Given the description of an element on the screen output the (x, y) to click on. 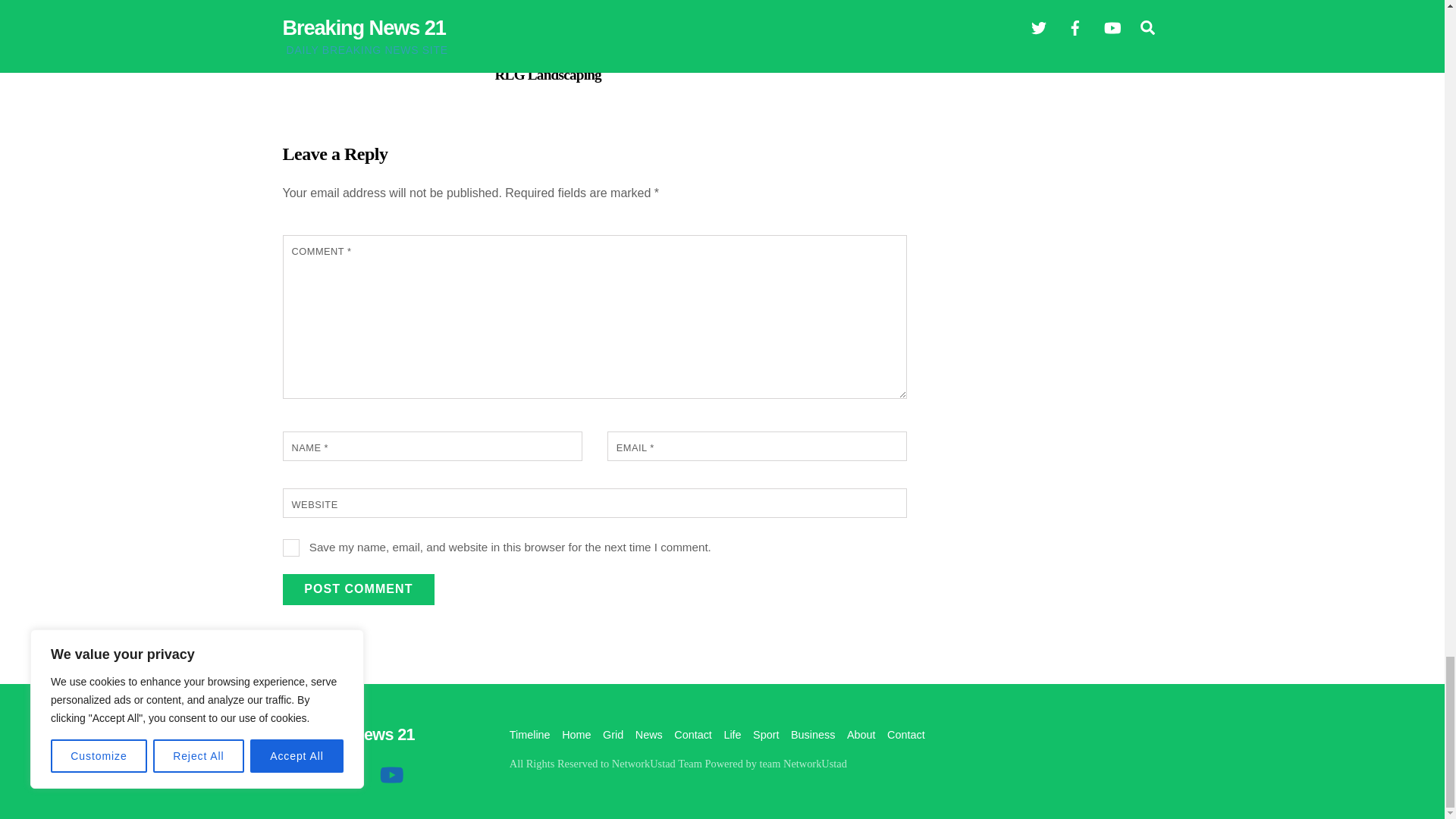
yes (290, 547)
TECHNOLOGY (527, 37)
Expert Artificial Turf Installers at RLG Landscaping (590, 65)
Breaking News 21 (347, 733)
Post Comment (357, 589)
Expert Artificial Turf Installers at RLG Landscaping (595, 11)
